Given the description of an element on the screen output the (x, y) to click on. 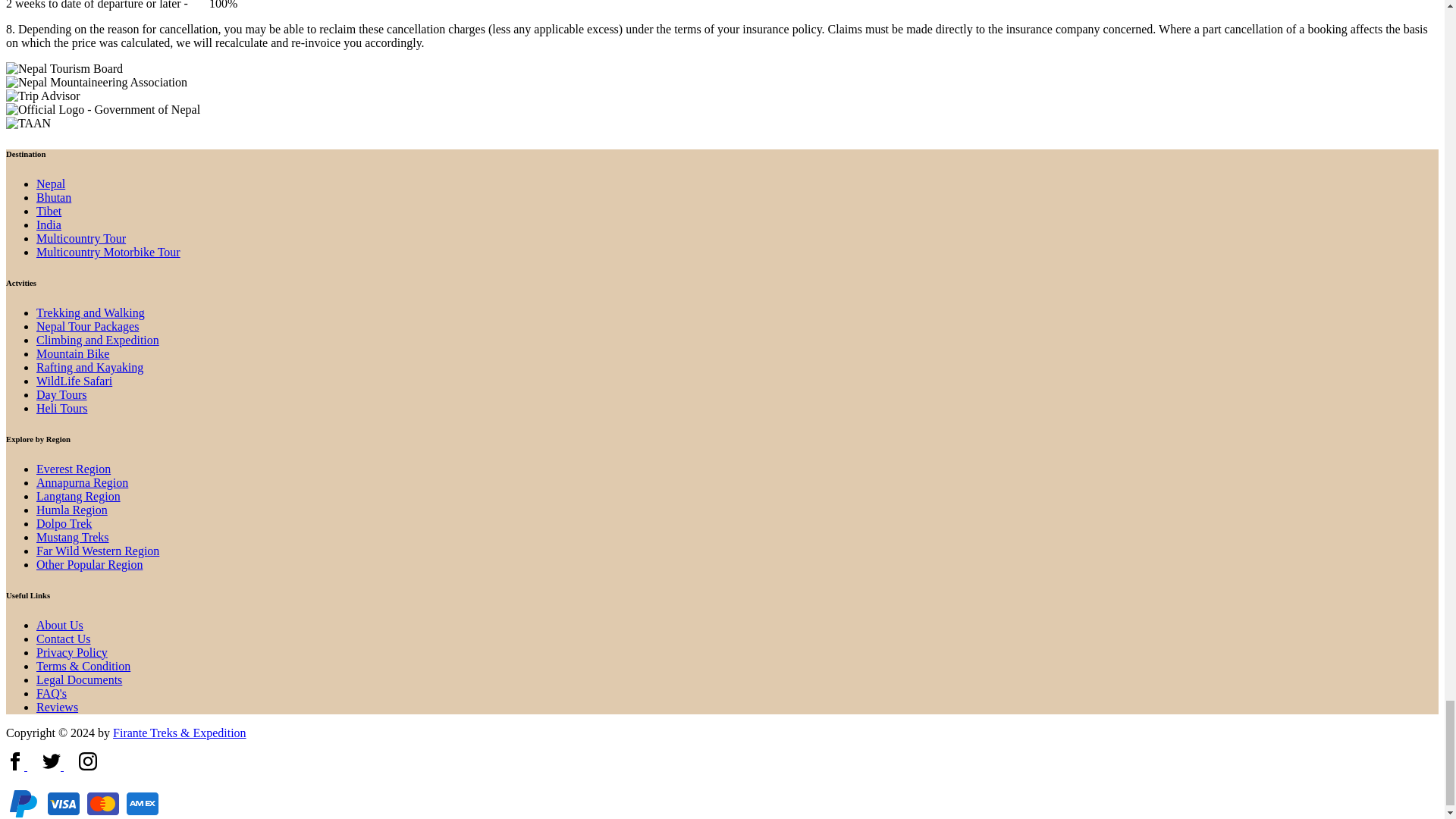
Everest Region (73, 468)
Mustang Treks (72, 536)
Humla Region (71, 509)
Legal Documents (79, 679)
Trekking Agencies Association of Nepal (27, 123)
FAQ's (51, 693)
Climbing and Expedition (97, 339)
WildLife Safari (74, 380)
Dolpo Trek (63, 522)
Langtang Region (78, 495)
Reviews (57, 707)
Trip Advisor (42, 96)
About Us (59, 625)
Multicountry Tour (80, 237)
Trekking and Walking (90, 312)
